Given the description of an element on the screen output the (x, y) to click on. 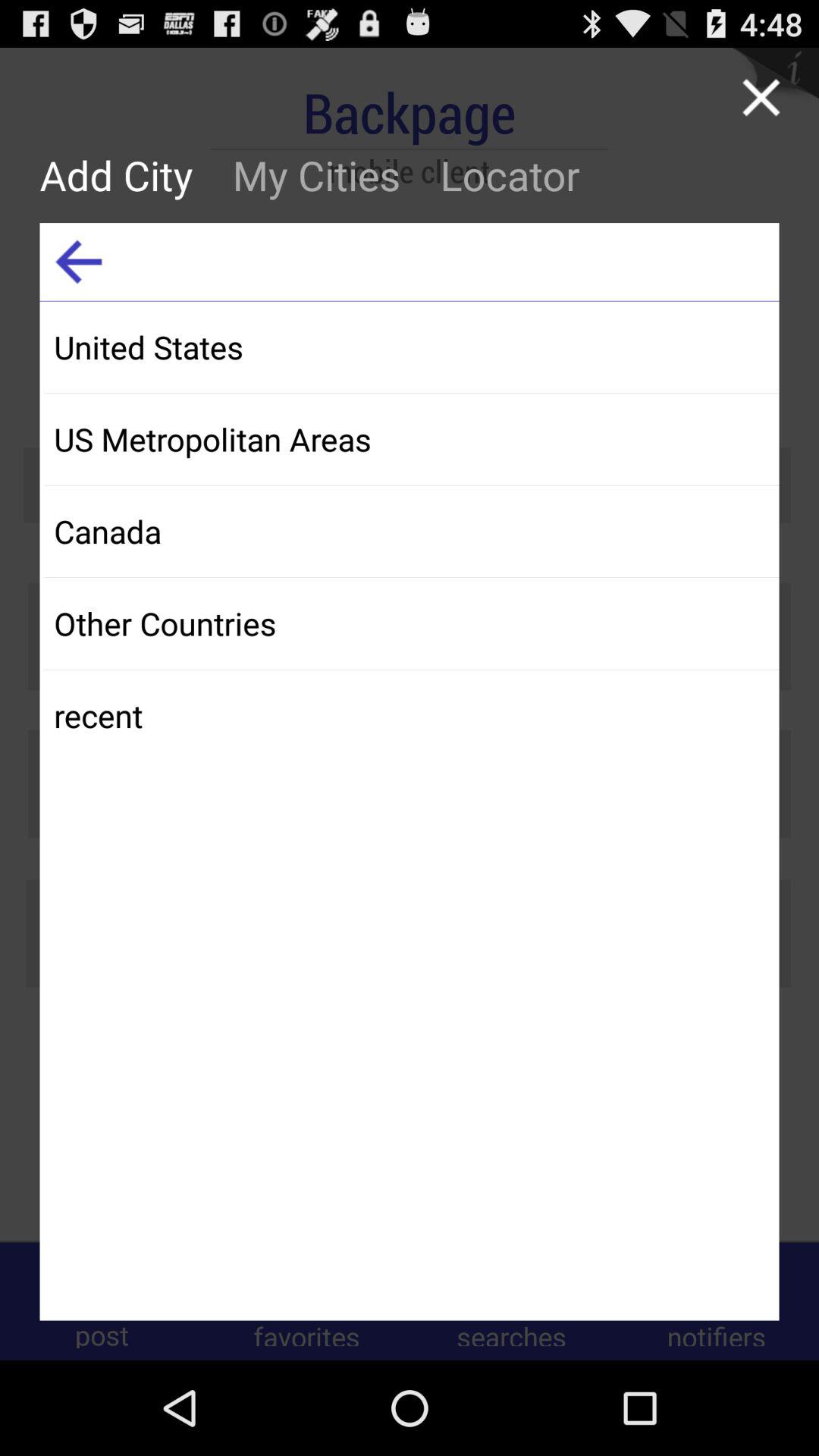
jump to recent item (411, 715)
